Given the description of an element on the screen output the (x, y) to click on. 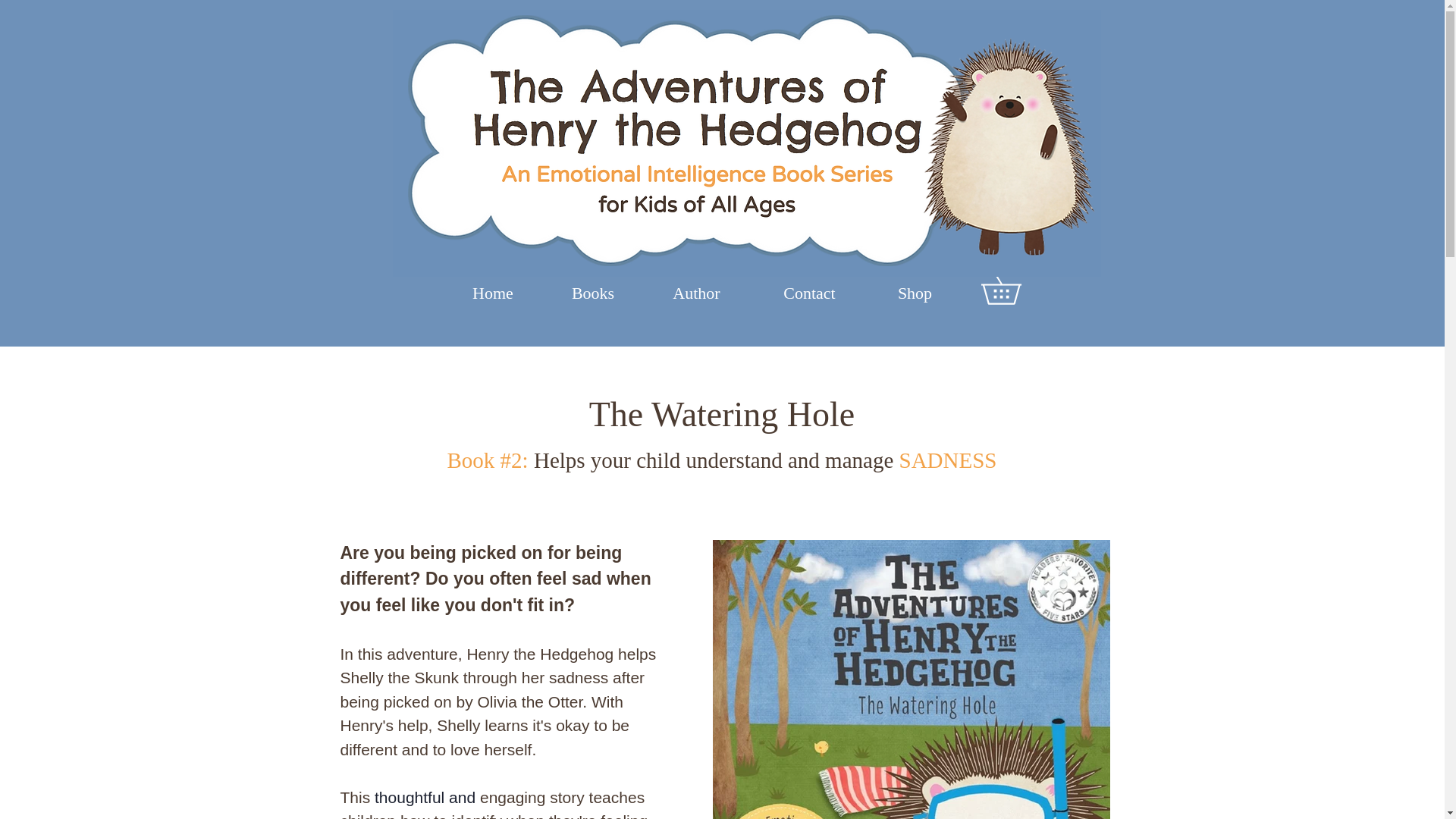
Shop (914, 293)
Home (492, 293)
Books (592, 293)
Author (697, 293)
Contact (810, 293)
